Given the description of an element on the screen output the (x, y) to click on. 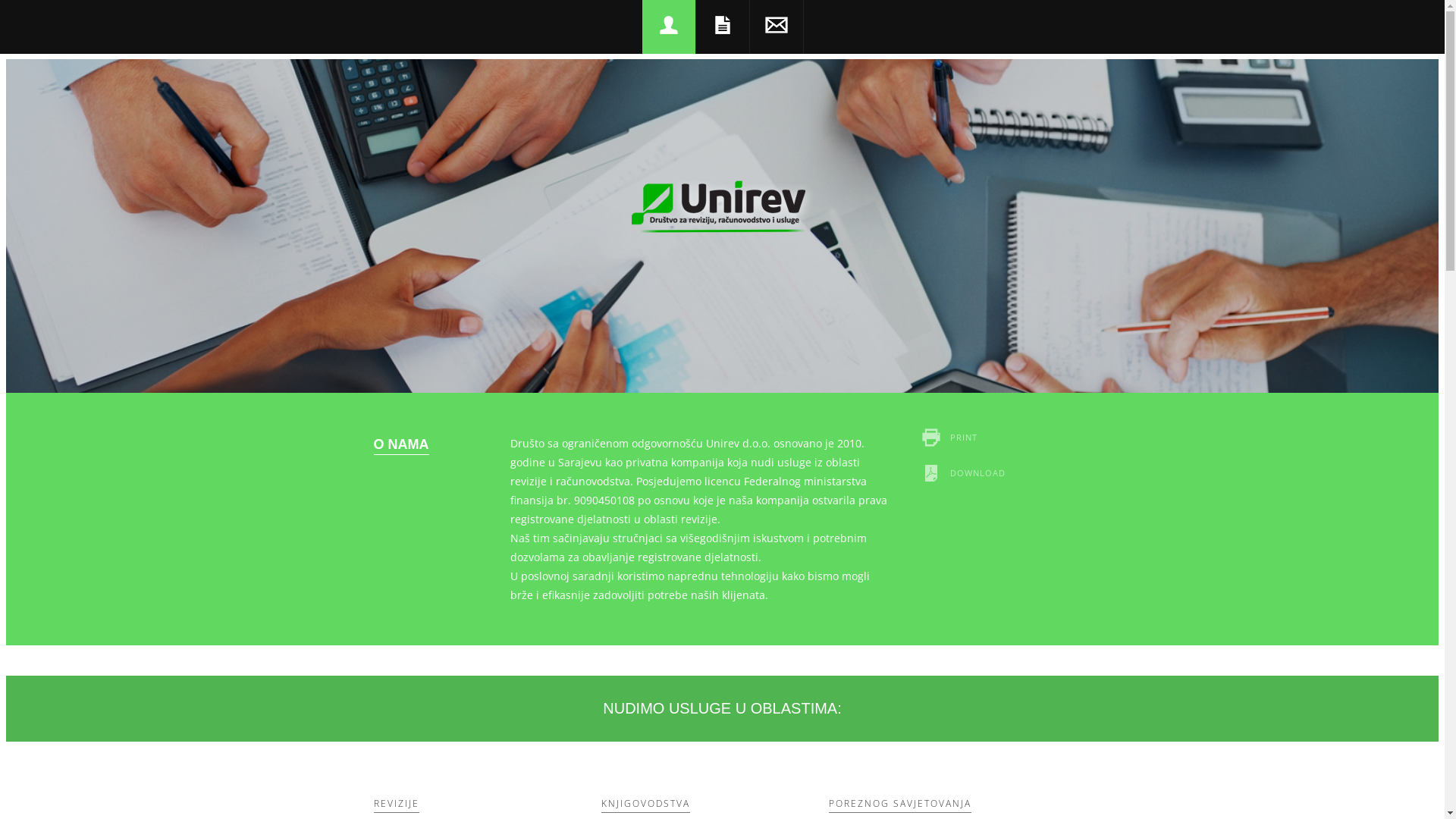
Usluge Element type: hover (721, 26)
Kontakt Element type: hover (776, 26)
DOWNLOAD Element type: text (994, 472)
O Nama Element type: hover (668, 26)
PRINT Element type: text (994, 437)
